Given the description of an element on the screen output the (x, y) to click on. 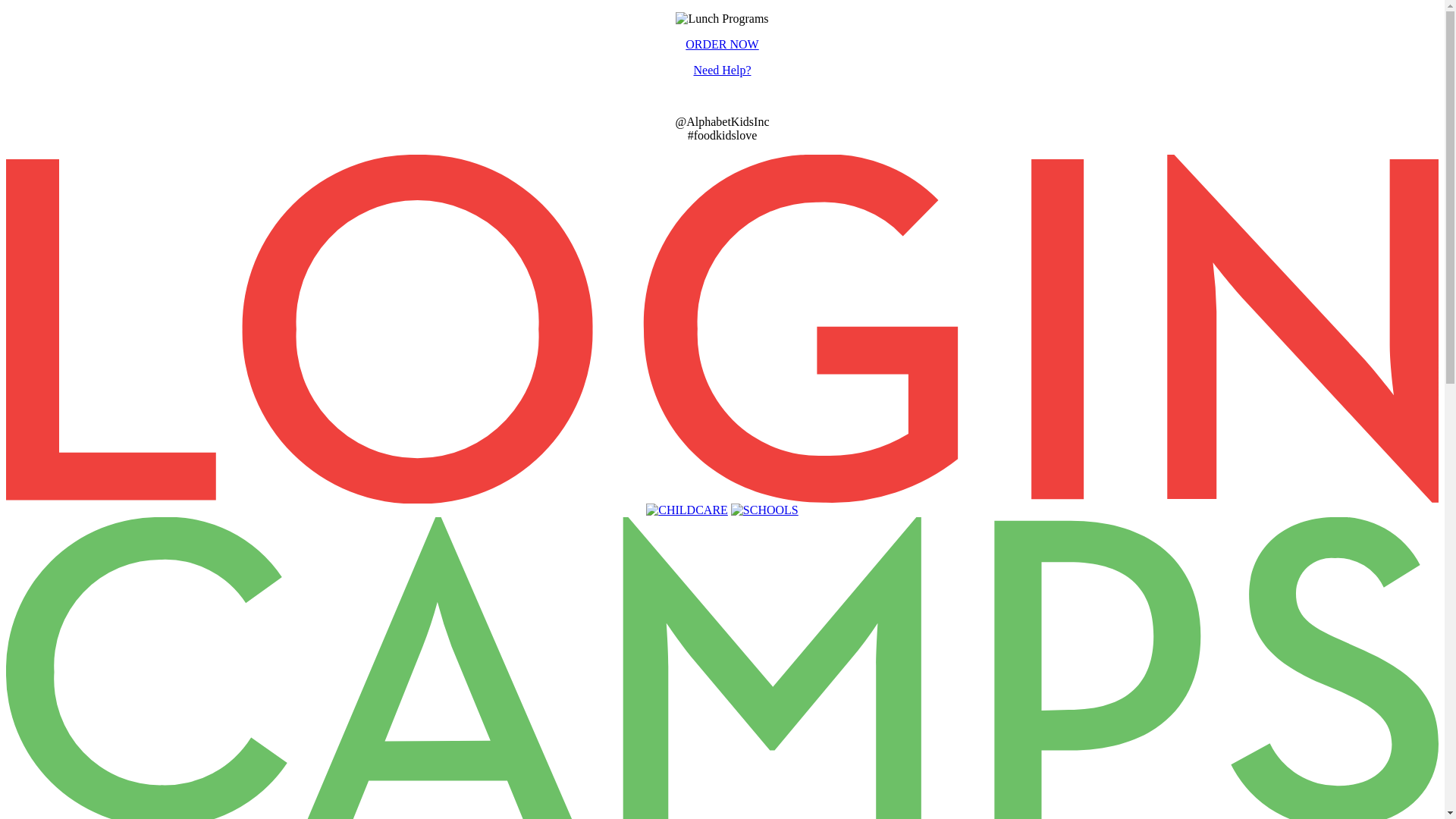
ORDER NOW Element type: text (721, 43)
Need Help? Element type: text (722, 69)
